Given the description of an element on the screen output the (x, y) to click on. 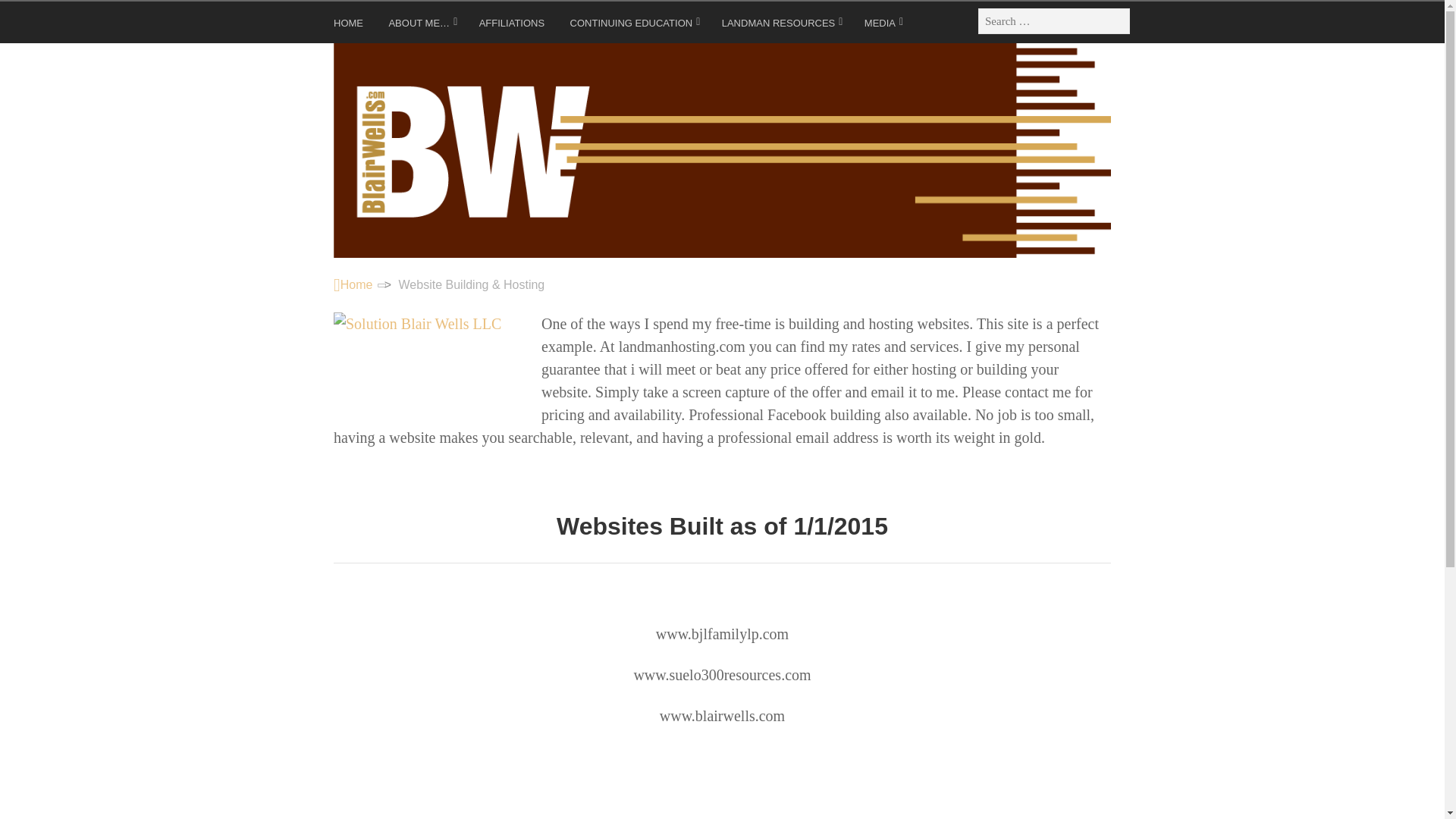
AFFILIATIONS (513, 26)
Search (30, 15)
Home (352, 285)
HOME (349, 26)
Home (349, 26)
Get Schooled! (635, 26)
MEDIA (883, 26)
LANDMAN RESOURCES (782, 26)
Members only (513, 26)
CONTINUING EDUCATION (635, 26)
